Given the description of an element on the screen output the (x, y) to click on. 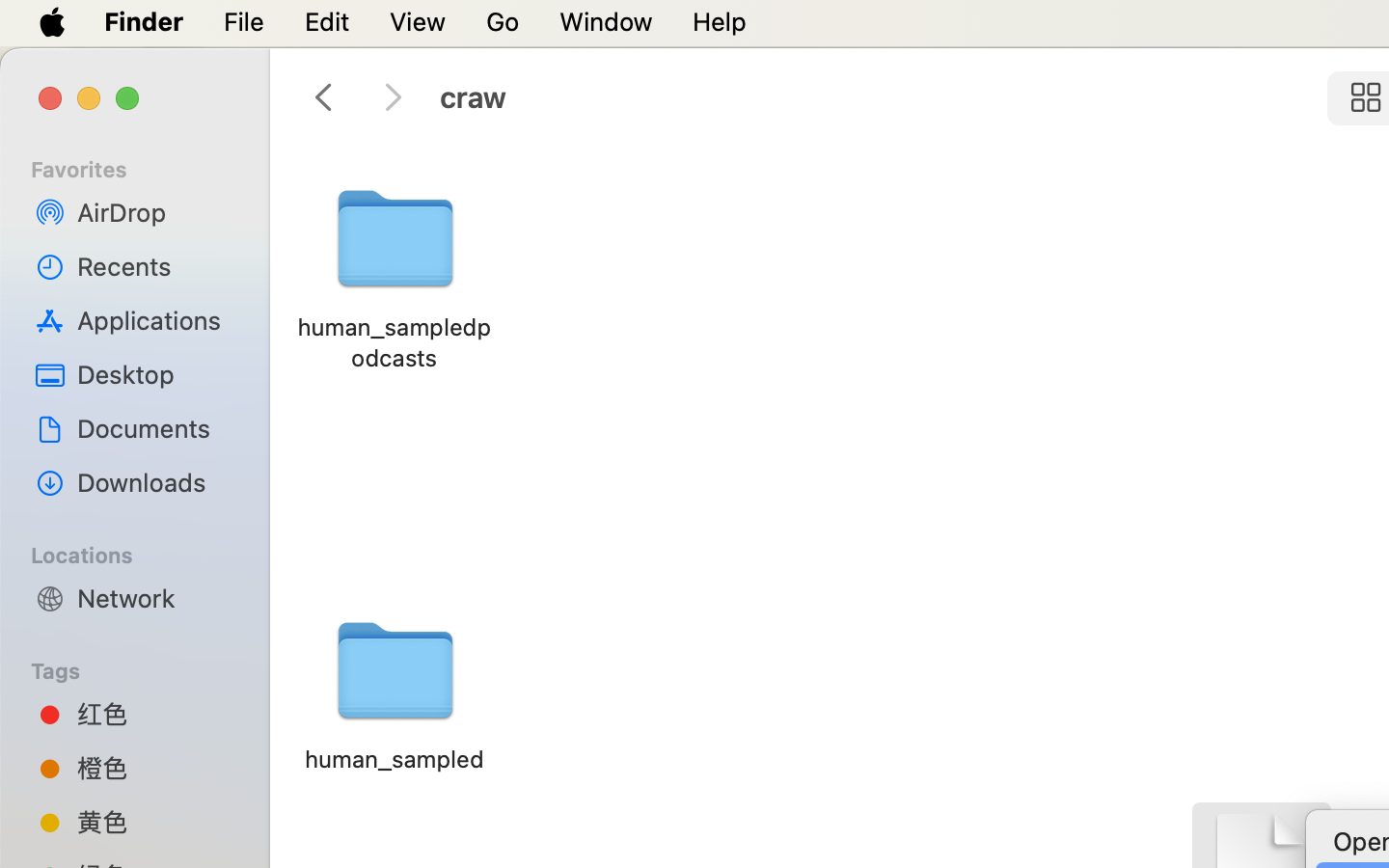
红色 Element type: AXStaticText (155, 713)
Applications Element type: AXStaticText (155, 319)
AirDrop Element type: AXStaticText (155, 211)
黄色 Element type: AXStaticText (155, 821)
Desktop Element type: AXStaticText (155, 373)
